Given the description of an element on the screen output the (x, y) to click on. 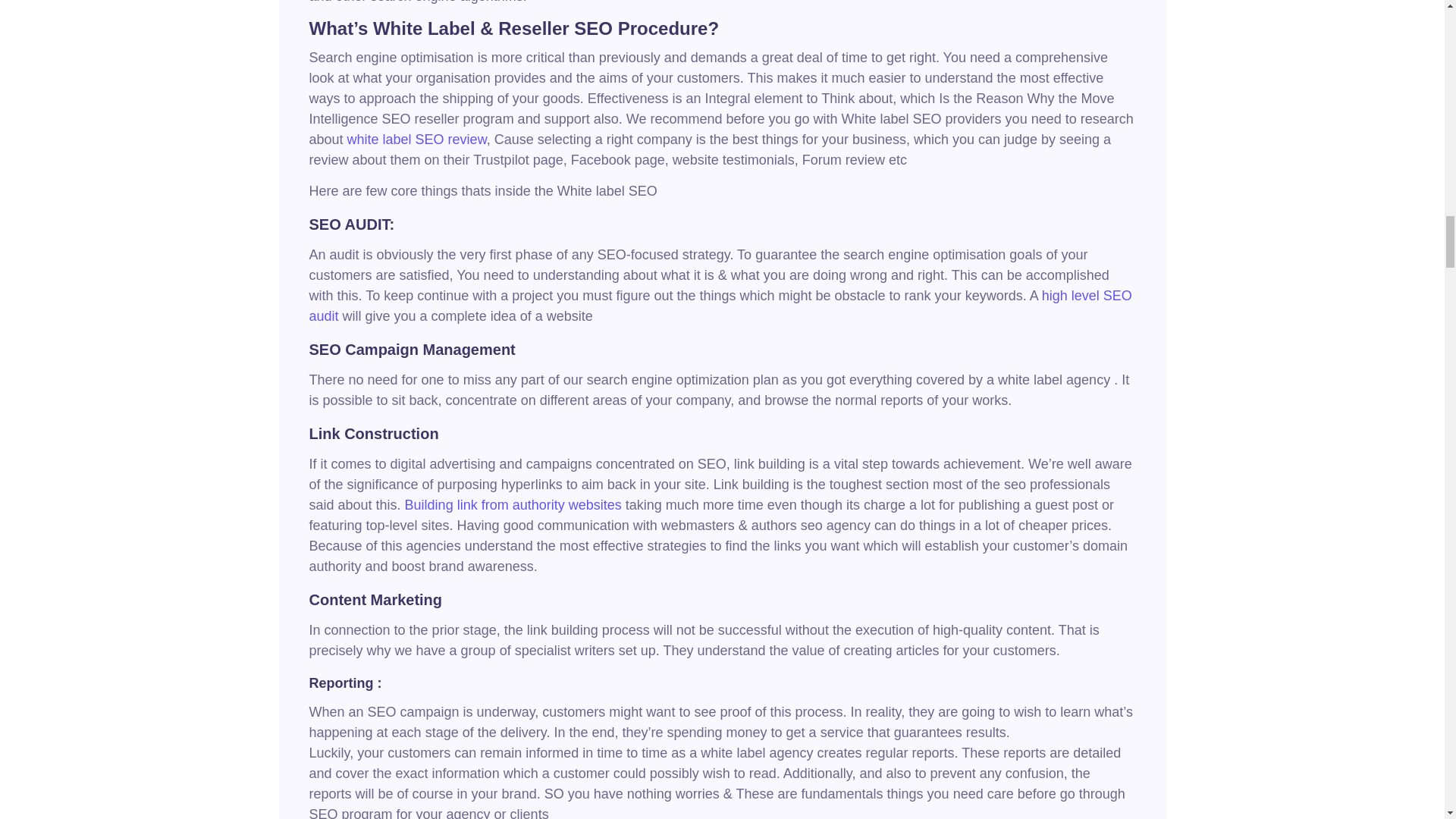
Building link from authority websites (512, 504)
high level SEO audit (720, 305)
white label SEO review (416, 139)
